Given the description of an element on the screen output the (x, y) to click on. 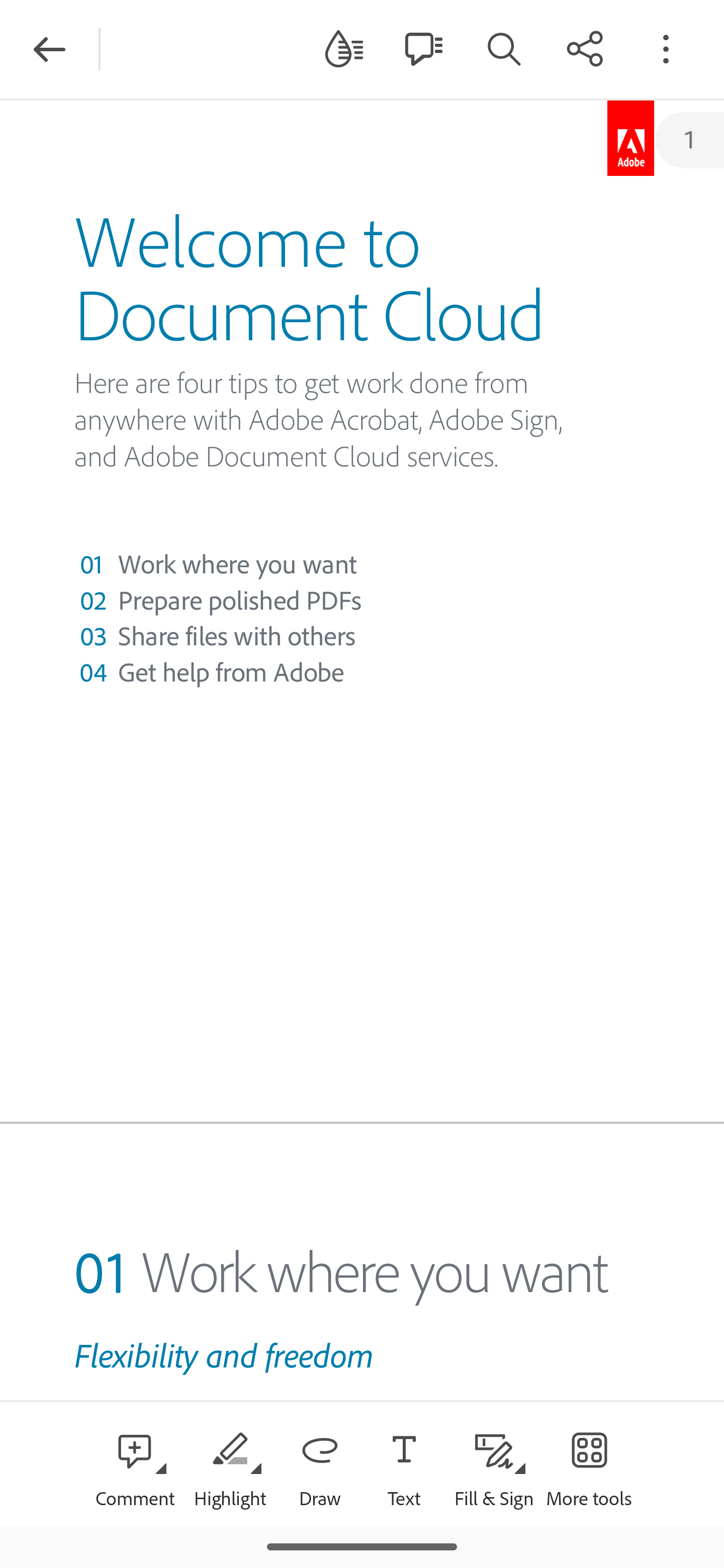
Back (49, 49)
Turn on Liquid Mode (343, 48)
Find keyword in document (503, 48)
Share this document with others (584, 48)
More options (665, 48)
Comments (423, 48)
Comment (134, 1463)
Highlight (229, 1463)
Draw (319, 1463)
Text (404, 1463)
Fill & Sign (493, 1463)
More tools (588, 1463)
